Given the description of an element on the screen output the (x, y) to click on. 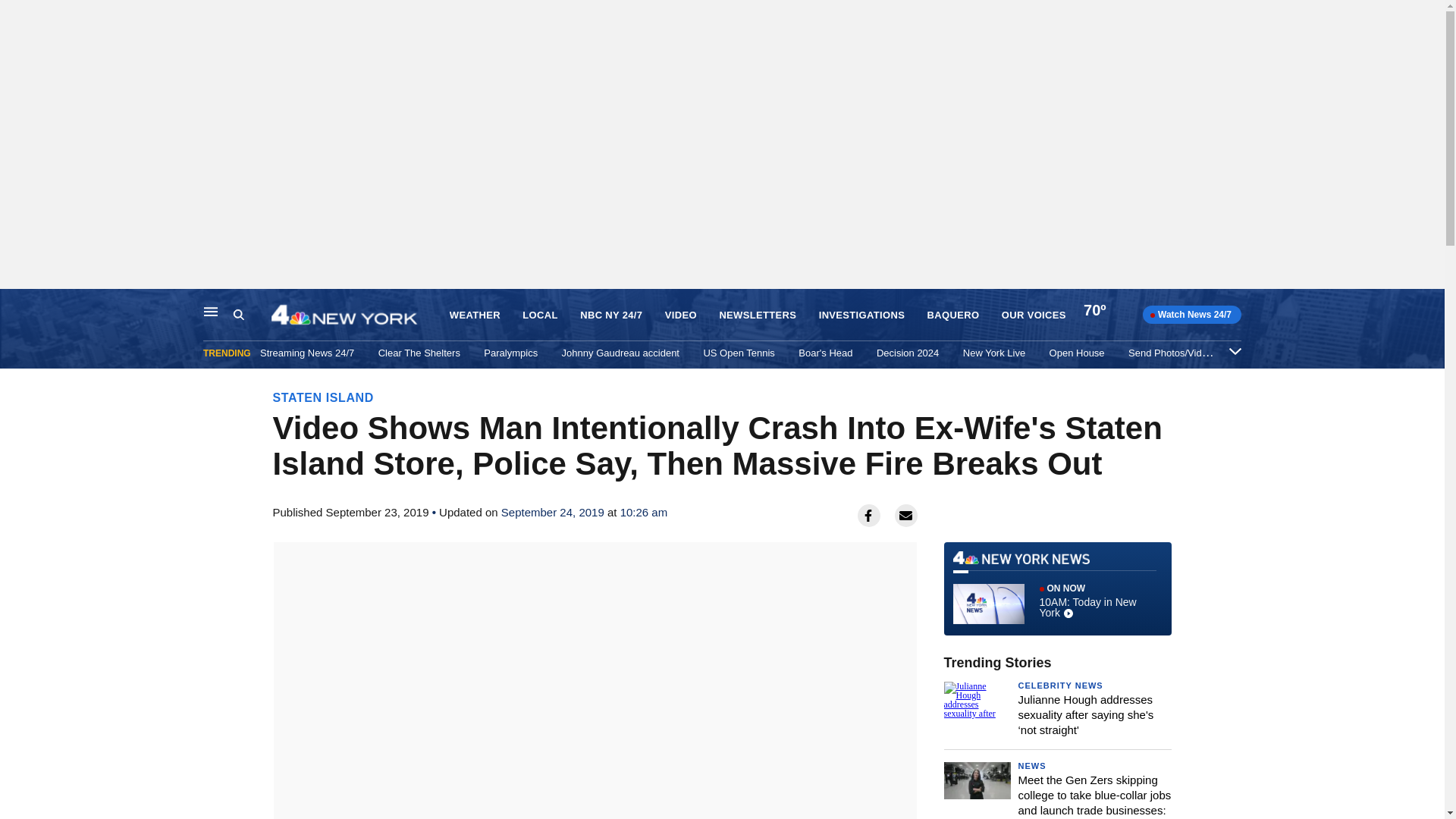
NEWSLETTERS (757, 315)
Johnny Gaudreau accident (620, 352)
LOCAL (539, 315)
BAQUERO (953, 315)
Decision 2024 (907, 352)
Clear The Shelters (419, 352)
Search (252, 314)
Skip to content (1056, 588)
Boar's Head (16, 304)
